Given the description of an element on the screen output the (x, y) to click on. 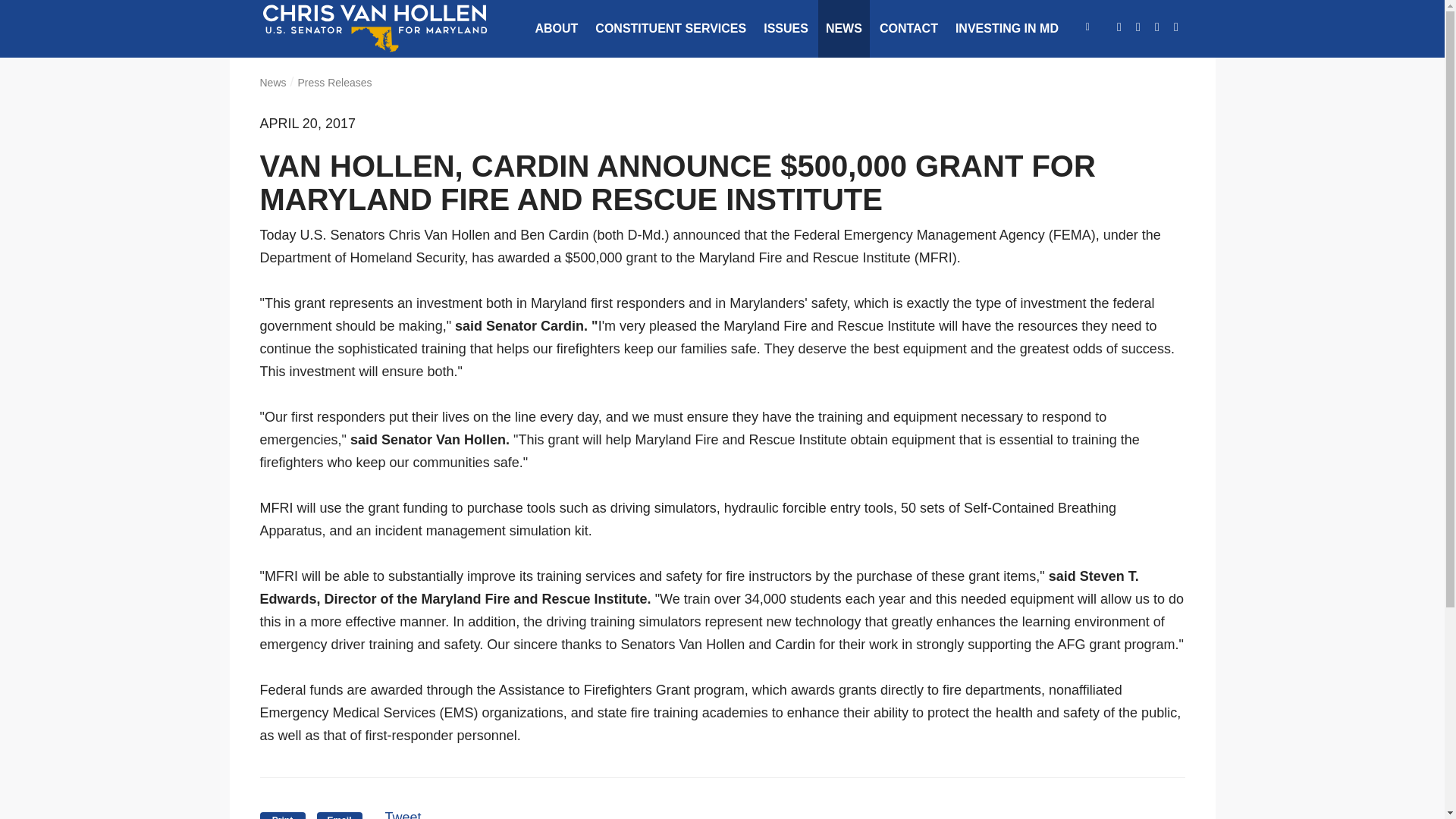
ISSUES (785, 28)
ABOUT (556, 28)
CONSTITUENT SERVICES (671, 28)
NEWS (843, 28)
